Given the description of an element on the screen output the (x, y) to click on. 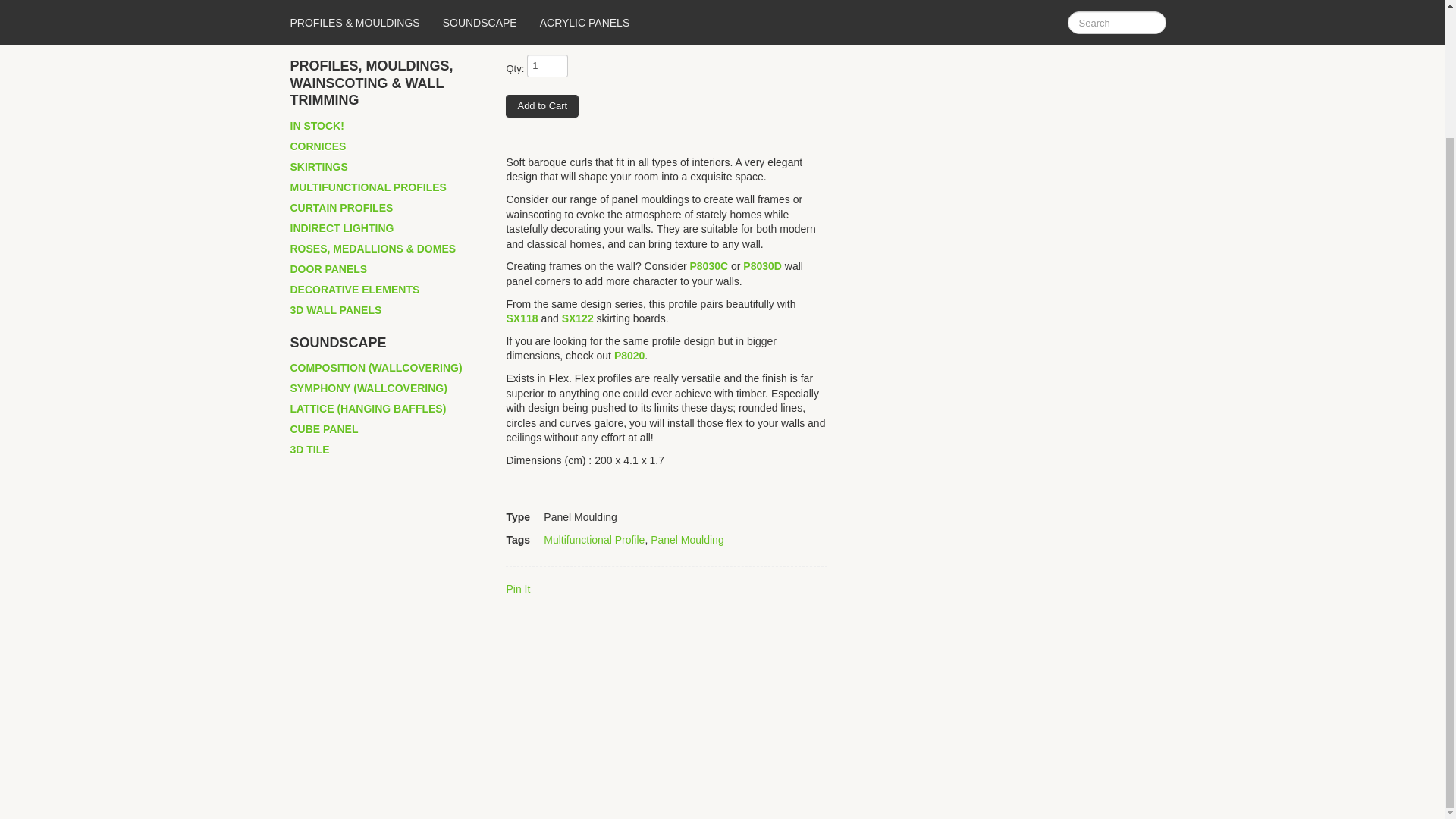
P8030D (761, 265)
Panel Moulding (686, 539)
1 (547, 65)
P8020 (629, 355)
DOOR PANELS (328, 269)
3D TILE (309, 449)
SX118 (521, 318)
P8030C (708, 265)
SX122 (578, 318)
SKIRTINGS (319, 166)
